Given the description of an element on the screen output the (x, y) to click on. 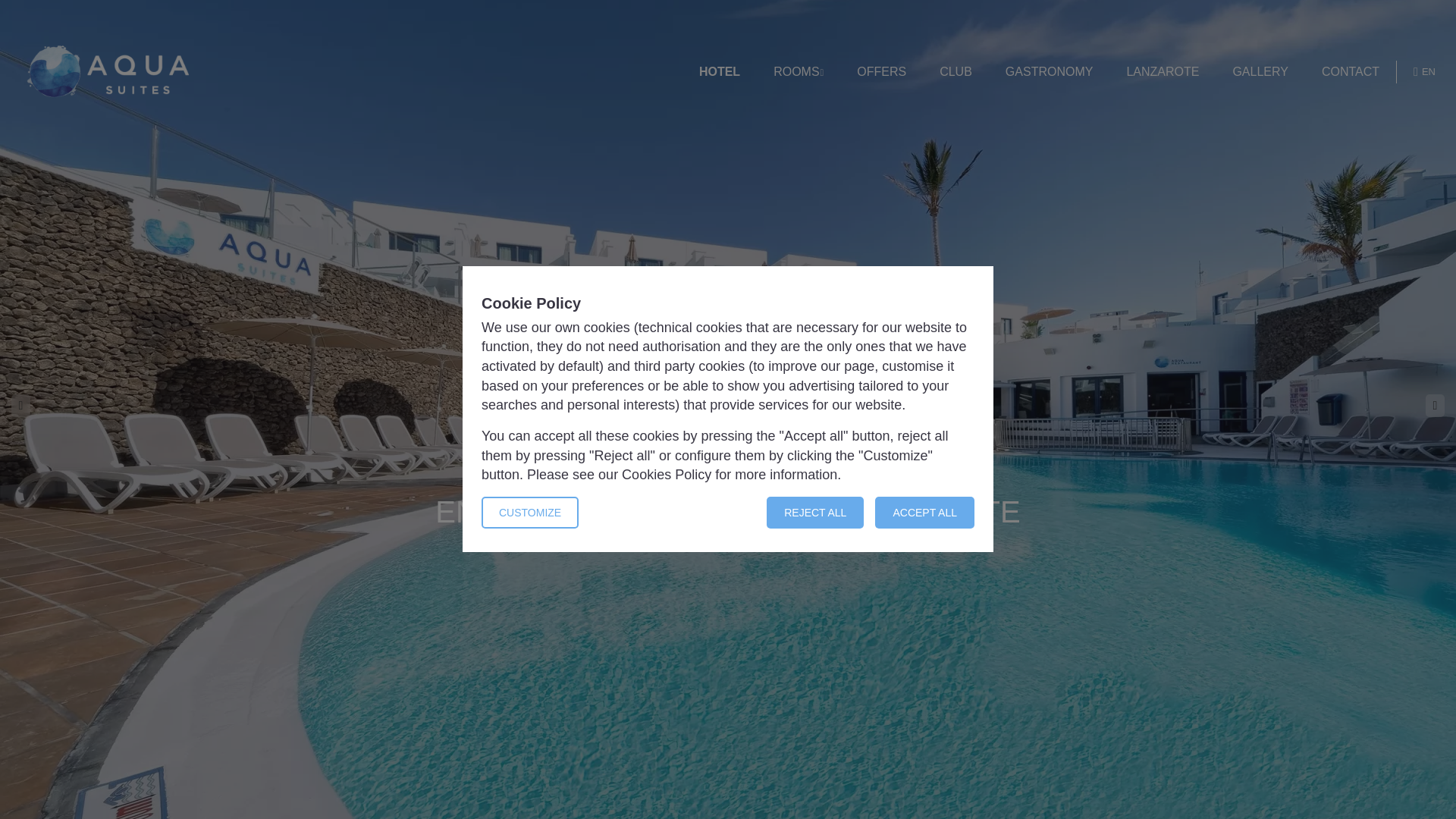
OFFERS (881, 72)
EN (1424, 71)
GALLERY (1260, 72)
ROOMS (797, 72)
LANZAROTE (1162, 72)
CLUB (956, 72)
GASTRONOMY (1049, 72)
CONTACT (1350, 72)
Aqua Suites Lanzarote (108, 71)
HOTEL (719, 72)
